Given the description of an element on the screen output the (x, y) to click on. 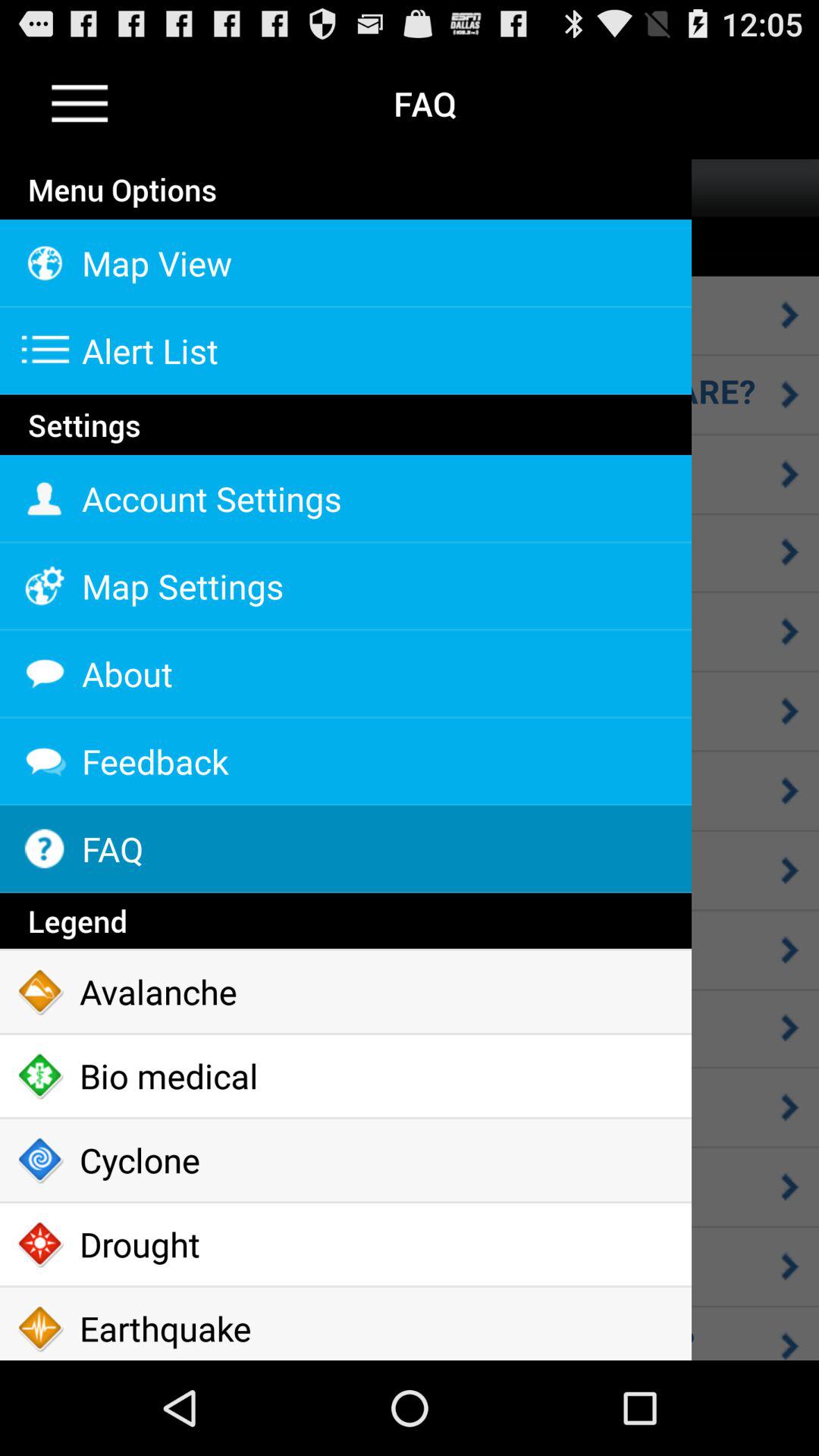
choose the item below the about icon (345, 761)
